Given the description of an element on the screen output the (x, y) to click on. 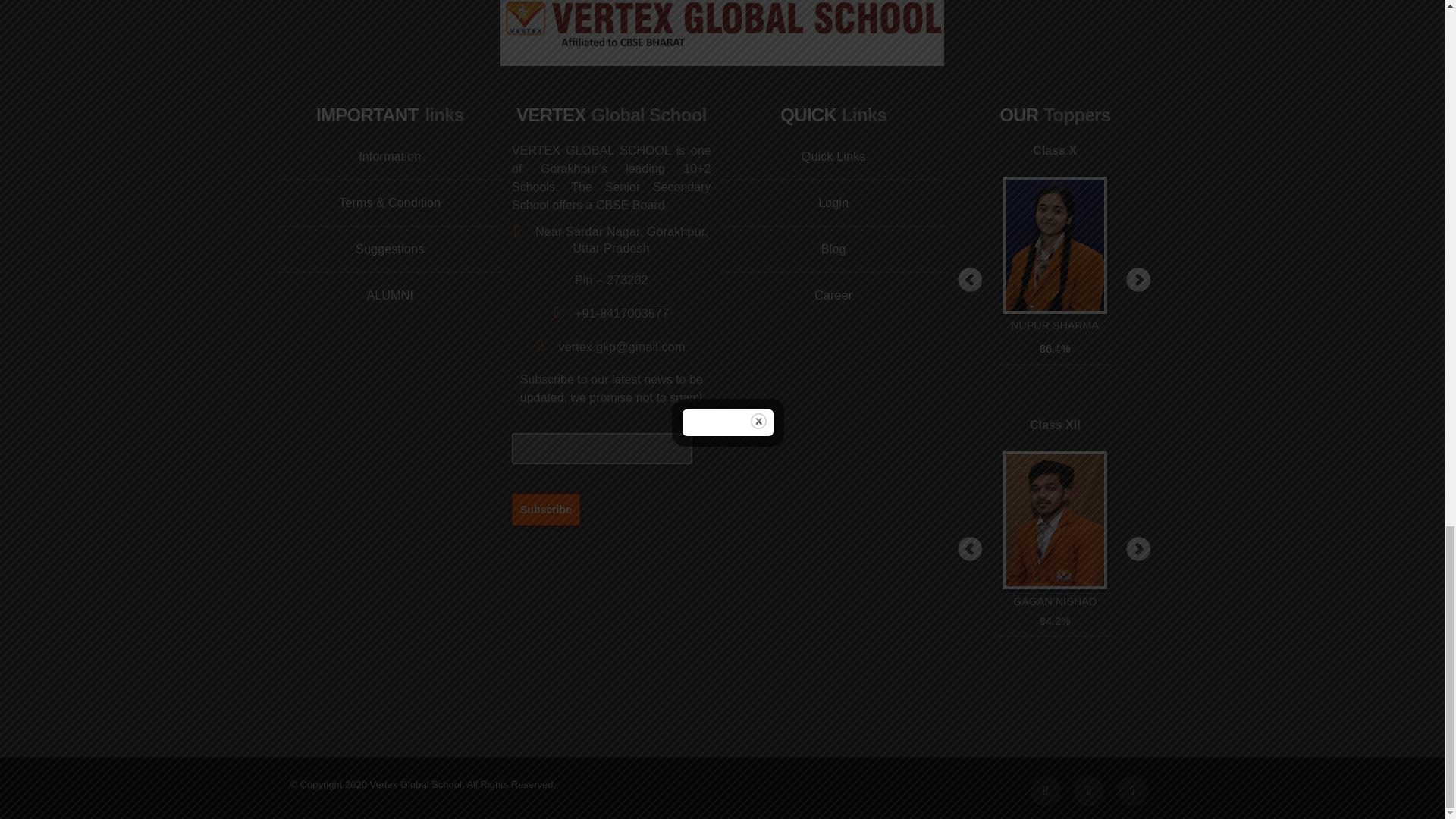
Subscribe (545, 508)
